Given the description of an element on the screen output the (x, y) to click on. 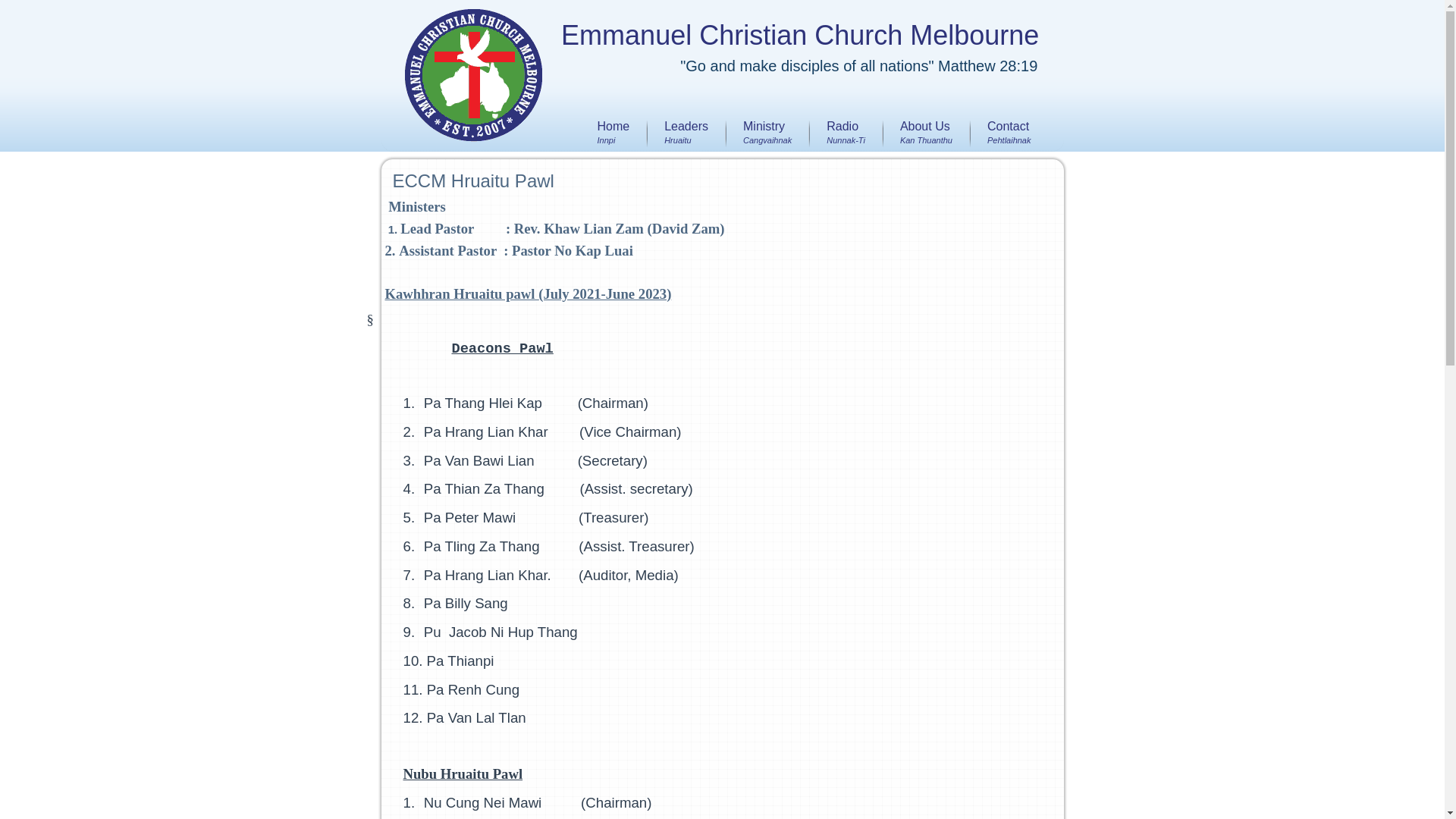
Leaders
Hruaitu Element type: text (686, 133)
About Us
Kan Thuanthu Element type: text (926, 133)
Home
Innpi Element type: text (612, 133)
Radio
Nunnak-Ti Element type: text (845, 133)
Contact
Pehtlaihnak Element type: text (1009, 133)
Emmanuel Christian Church Melbourne Element type: text (799, 34)
Ministry
Cangvaihnak Element type: text (767, 133)
